Given the description of an element on the screen output the (x, y) to click on. 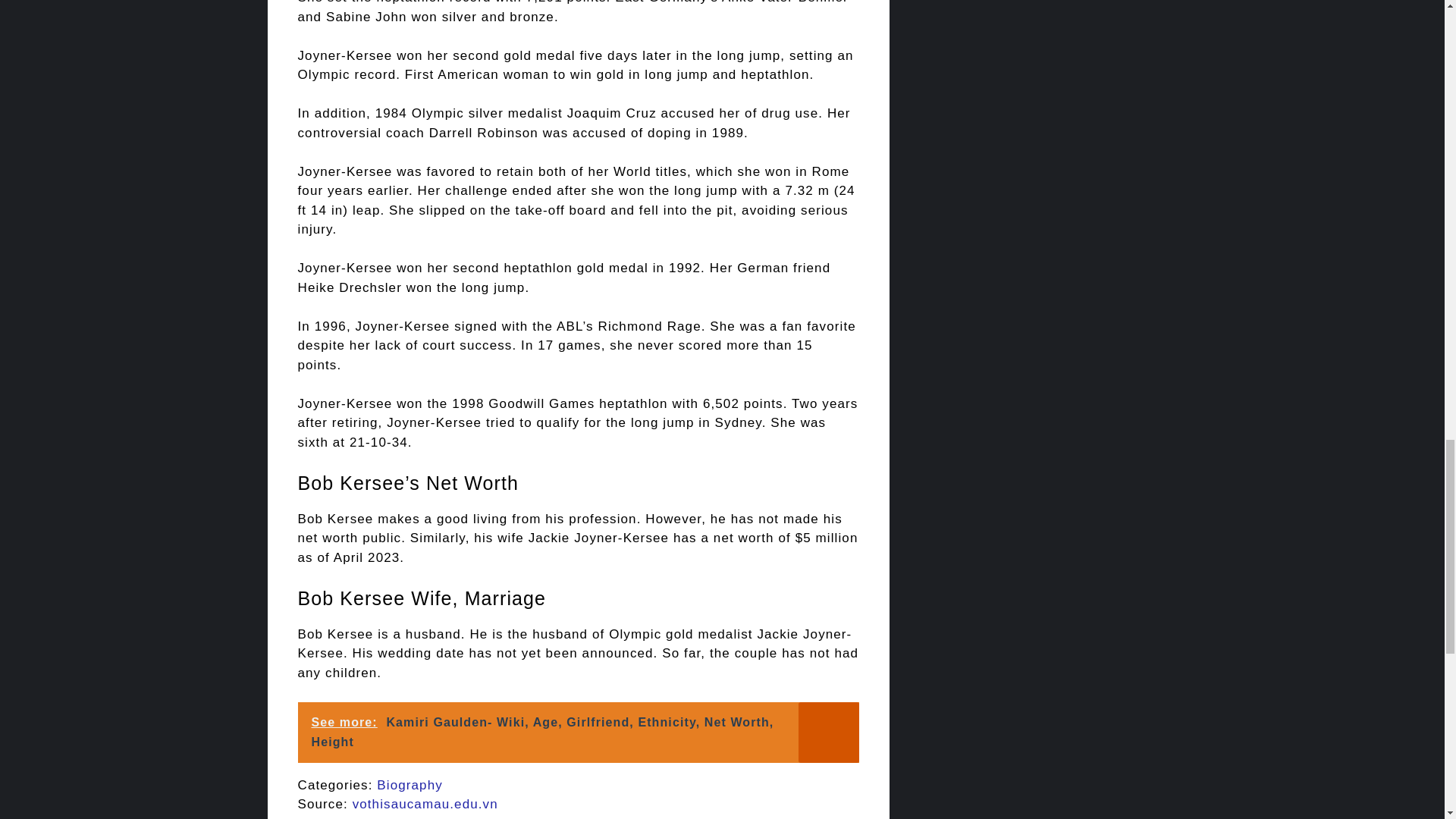
Biography (409, 785)
vothisaucamau.edu.vn (424, 803)
